Given the description of an element on the screen output the (x, y) to click on. 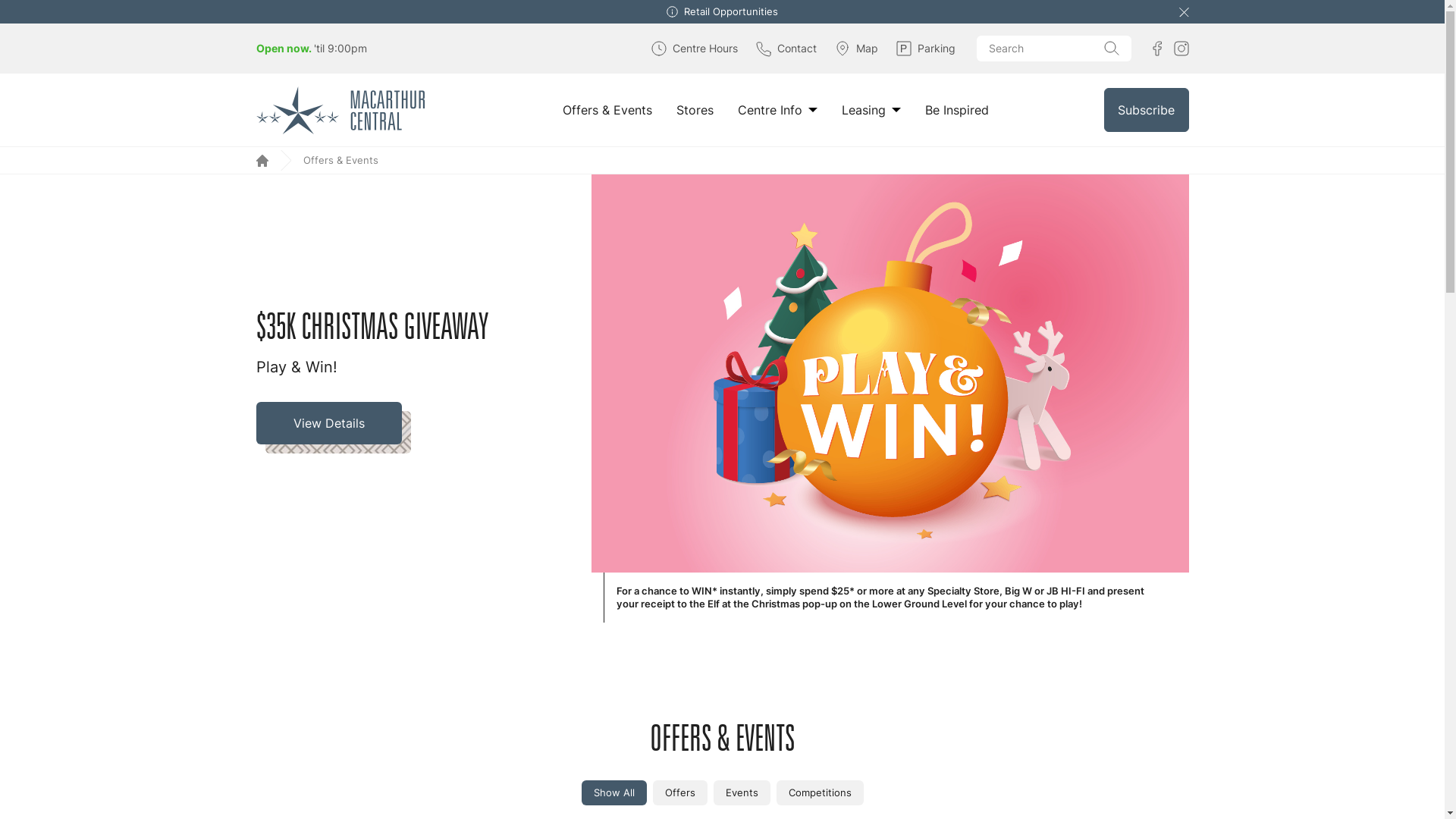
Events Element type: text (740, 792)
Retail Opportunities Element type: text (731, 11)
View Details Element type: text (333, 427)
Offers & Events Element type: text (342, 159)
Centre Info Element type: text (776, 109)
Be Inspired Element type: text (956, 109)
Stores Element type: text (694, 109)
Leasing Element type: text (870, 109)
Offers & Events Element type: text (607, 109)
Offers Element type: text (679, 792)
Open now. 'til 9:00pm Element type: text (311, 47)
Subscribe Element type: text (1146, 109)
Parking Element type: text (925, 48)
Centre Hours Element type: text (693, 48)
Home Element type: text (262, 160)
Show All Element type: text (613, 792)
Map Element type: text (855, 48)
Competitions Element type: text (819, 792)
Contact Element type: text (785, 48)
